Given the description of an element on the screen output the (x, y) to click on. 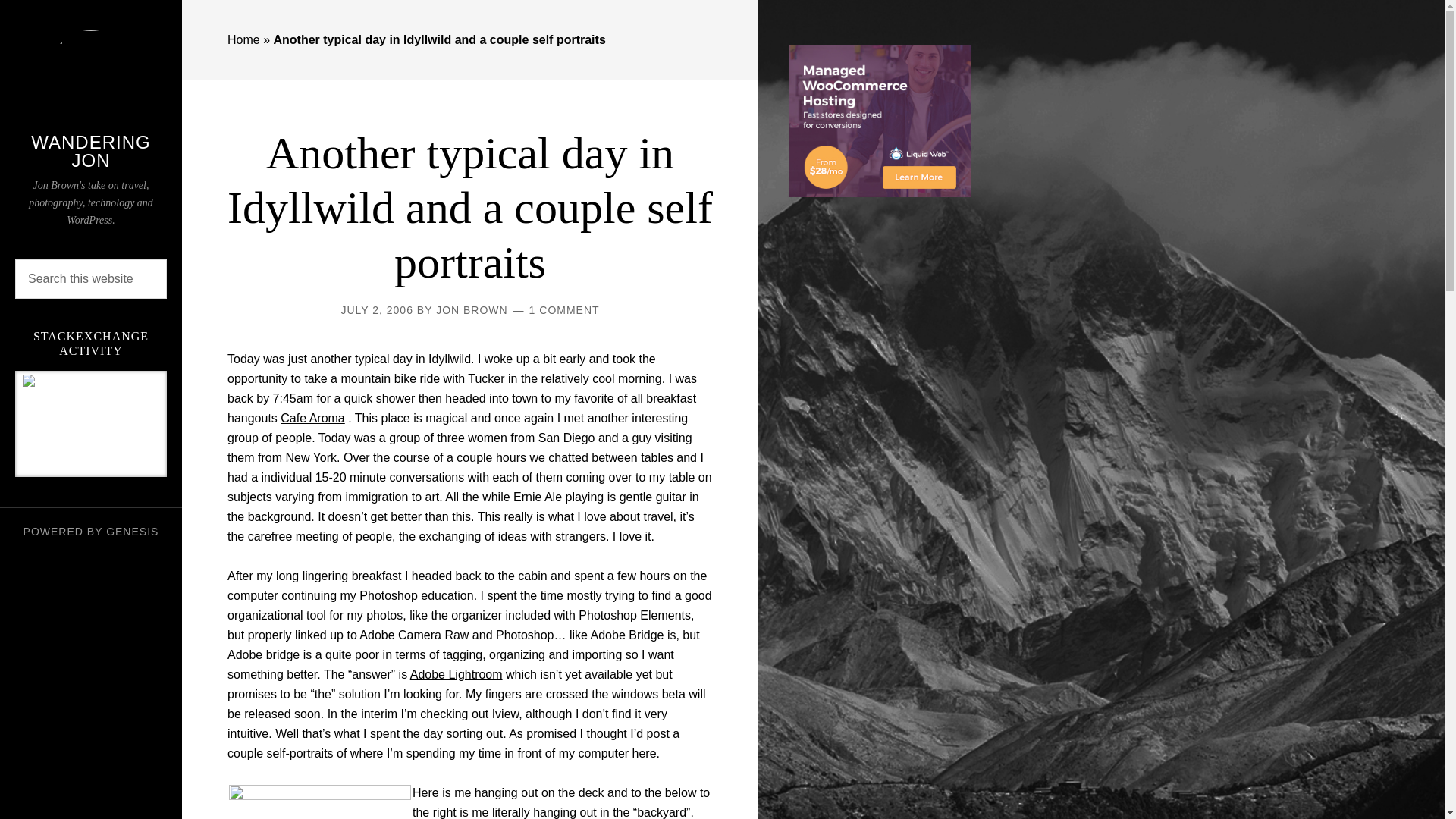
Advertisement (880, 460)
1 COMMENT (564, 309)
Home (243, 39)
Adobe Lightroom (456, 674)
GENESIS (132, 531)
Cafe Aroma (312, 418)
WANDERING JON (89, 150)
JON BROWN (471, 309)
